Given the description of an element on the screen output the (x, y) to click on. 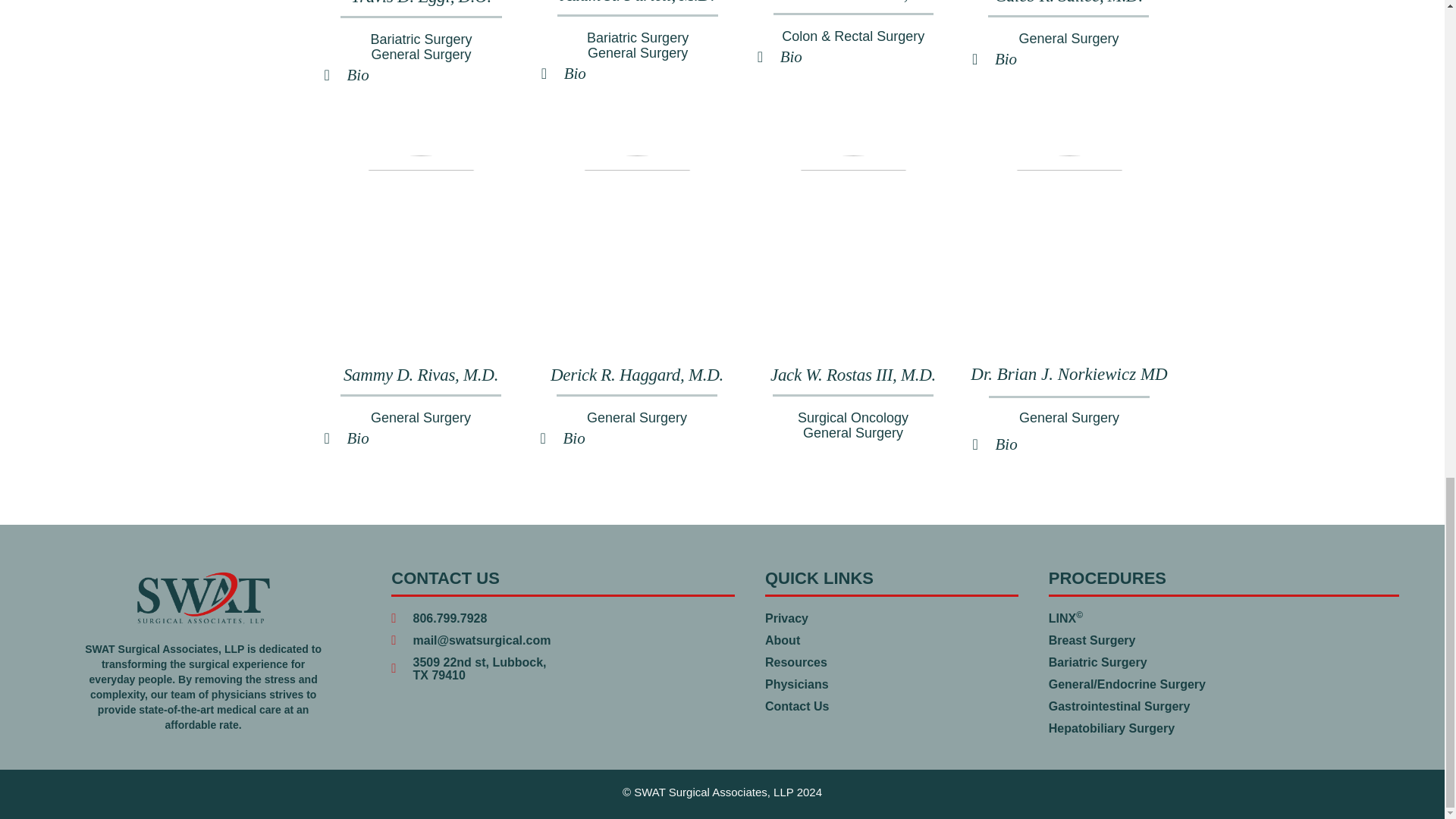
Bio (575, 73)
Bio (573, 438)
Bio (358, 75)
Bio (358, 438)
Bio (1005, 58)
Bio (791, 56)
Bio (1005, 443)
